Given the description of an element on the screen output the (x, y) to click on. 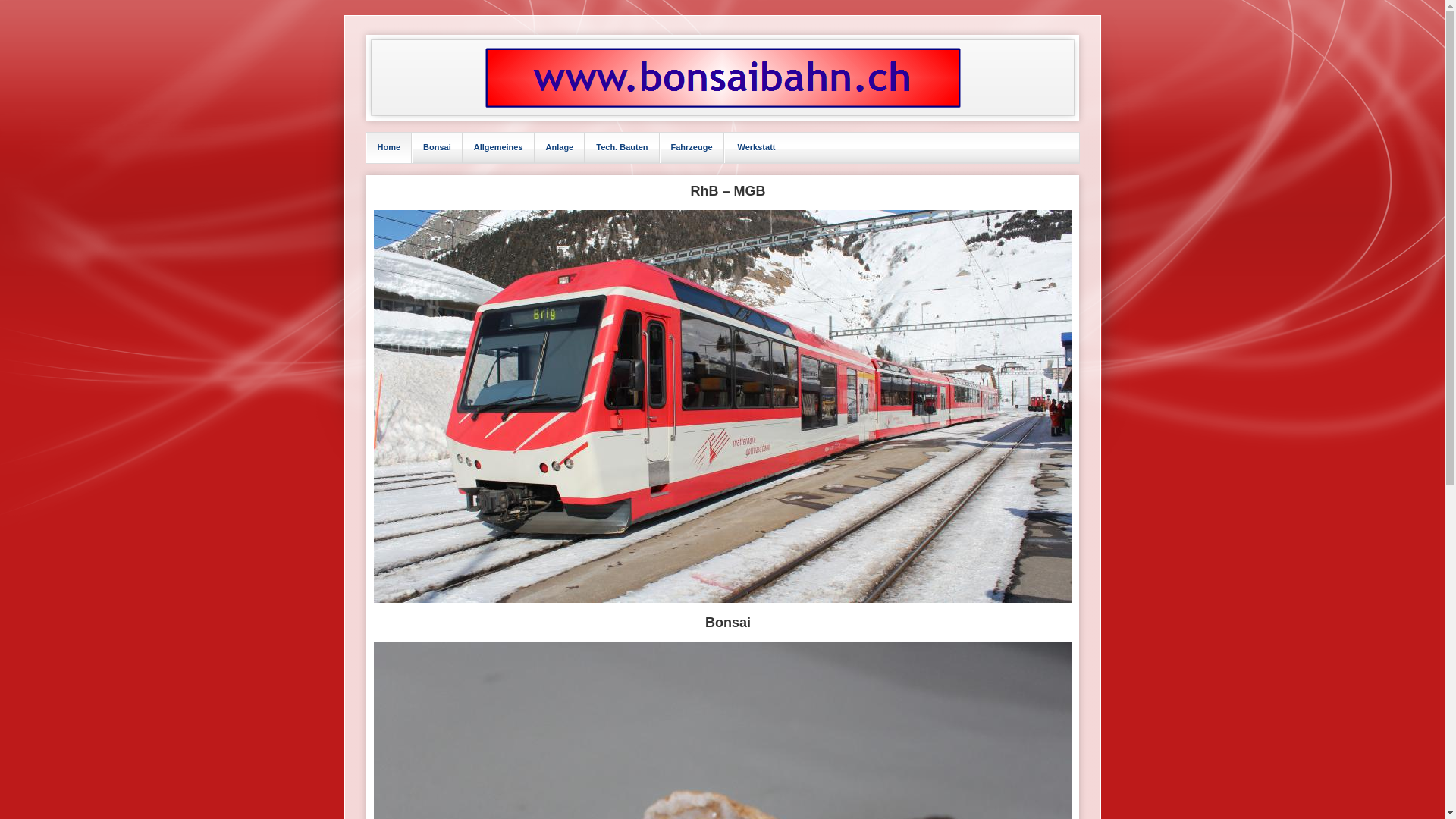
Anlage Element type: text (559, 146)
Fahrzeuge Element type: text (691, 146)
Allgemeines Element type: text (498, 146)
Home Element type: text (389, 146)
Tech. Bauten Element type: text (621, 146)
Werkstatt Element type: text (756, 146)
Bonsai Element type: text (436, 146)
